Given the description of an element on the screen output the (x, y) to click on. 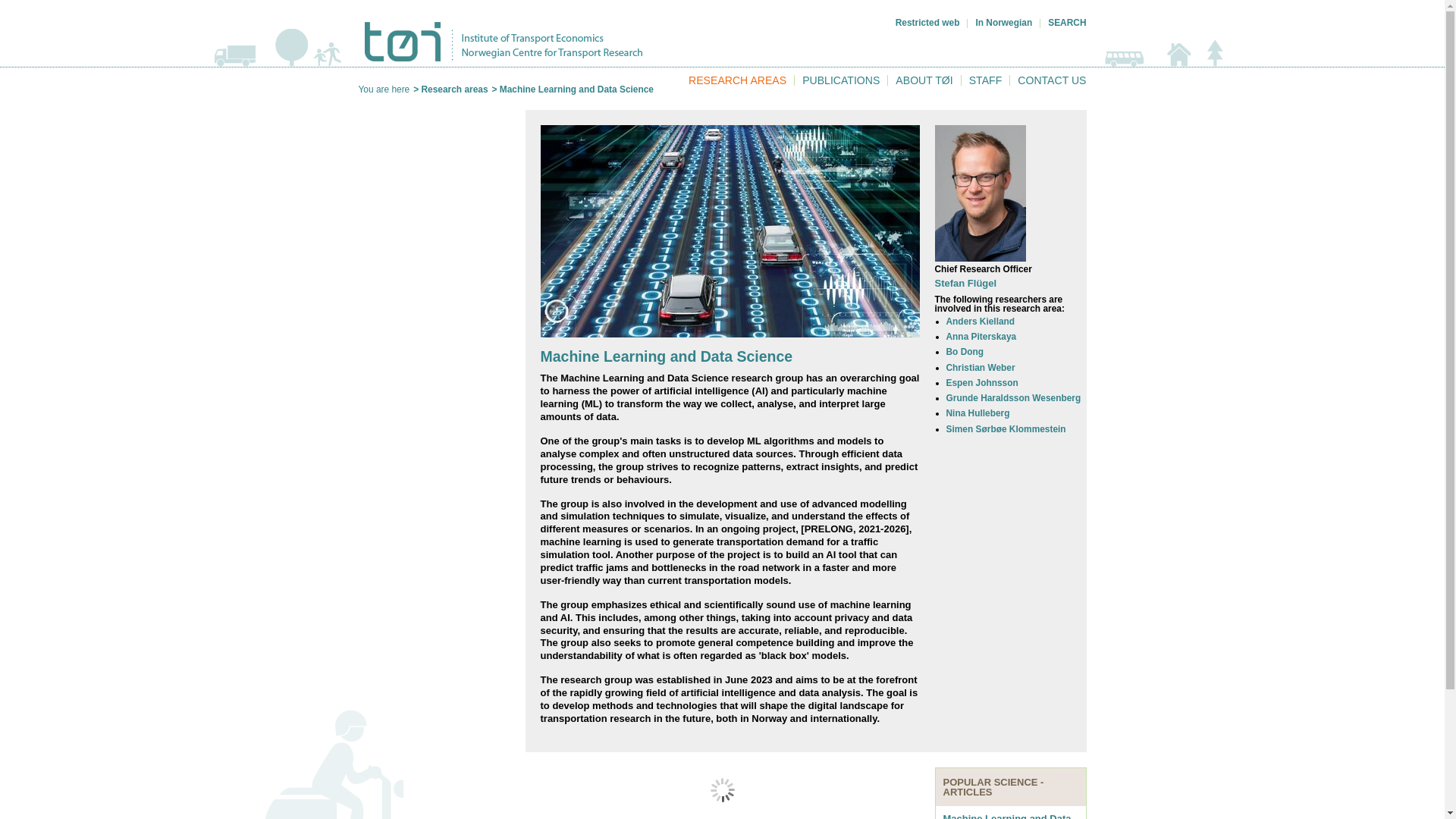
CONTACT US (1051, 80)
STAFF (986, 80)
Anna Piterskaya (981, 336)
Research areas (454, 89)
RESEARCH AREAS (737, 80)
Nina Hulleberg (978, 412)
SEARCH (1067, 22)
Grunde Haraldsson Wesenberg (1013, 398)
In Norwegian (1003, 22)
Bo Dong (965, 351)
